Given the description of an element on the screen output the (x, y) to click on. 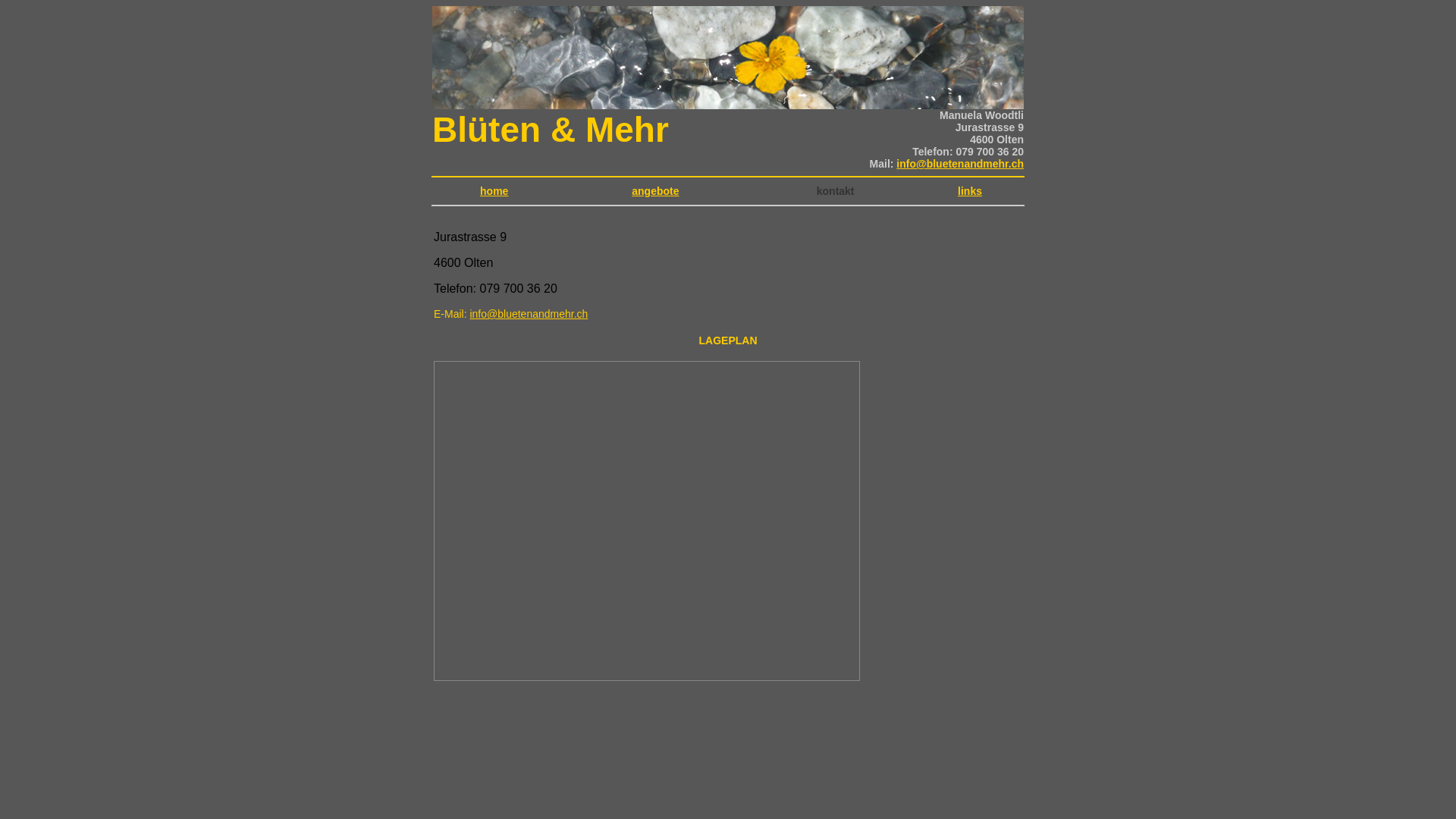
info@bluetenandmehr.ch Element type: text (528, 313)
angebote Element type: text (654, 191)
links Element type: text (969, 191)
info@bluetenandmehr.ch Element type: text (959, 163)
home Element type: text (494, 191)
